Given the description of an element on the screen output the (x, y) to click on. 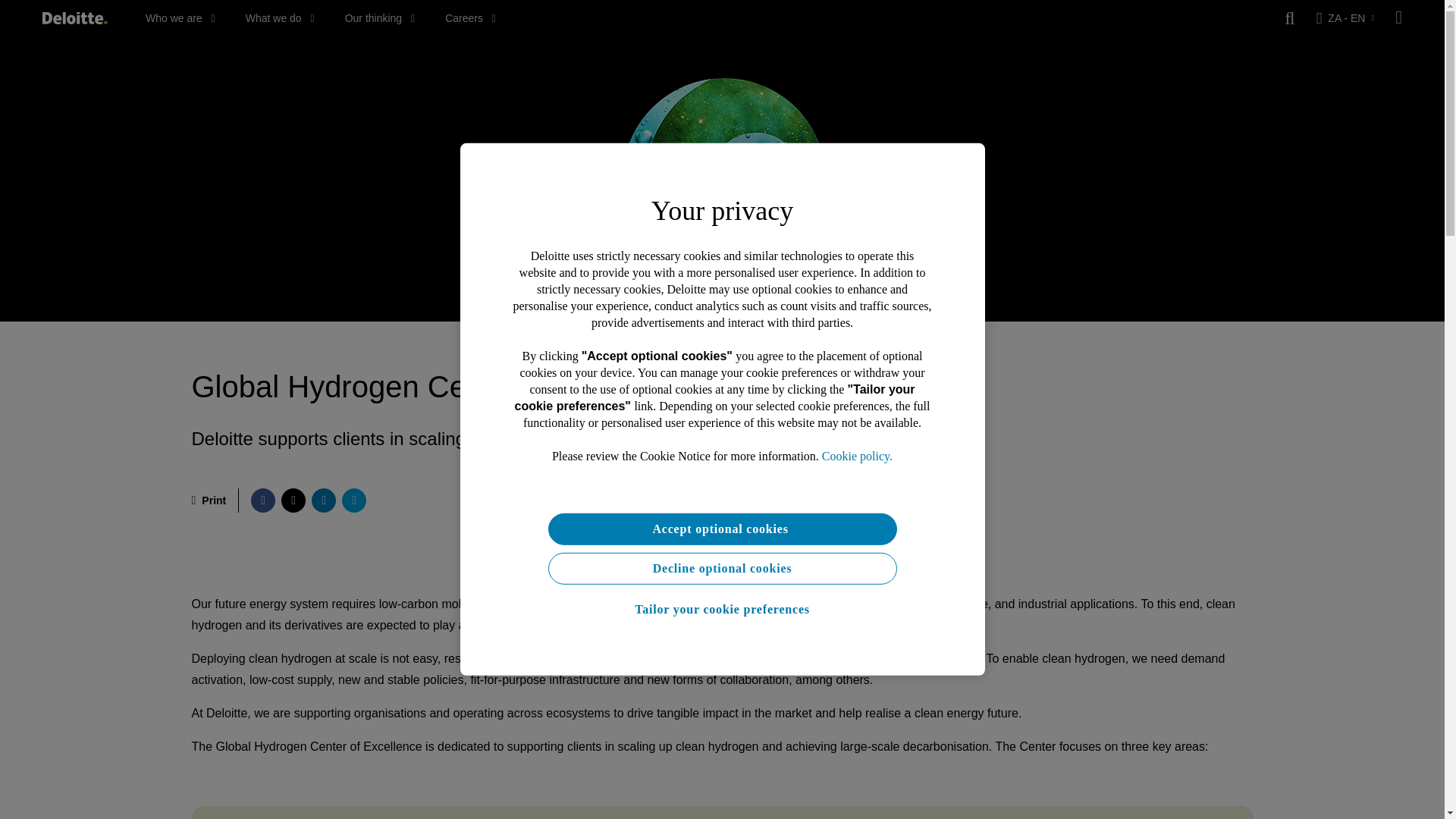
Print (207, 500)
Deloitte (74, 18)
share via linkedin (323, 500)
share via facebook (262, 500)
What we do (280, 18)
Careers (470, 18)
Who we are (180, 18)
share via... (354, 500)
Our thinking (379, 18)
share via twitter (293, 500)
